Given the description of an element on the screen output the (x, y) to click on. 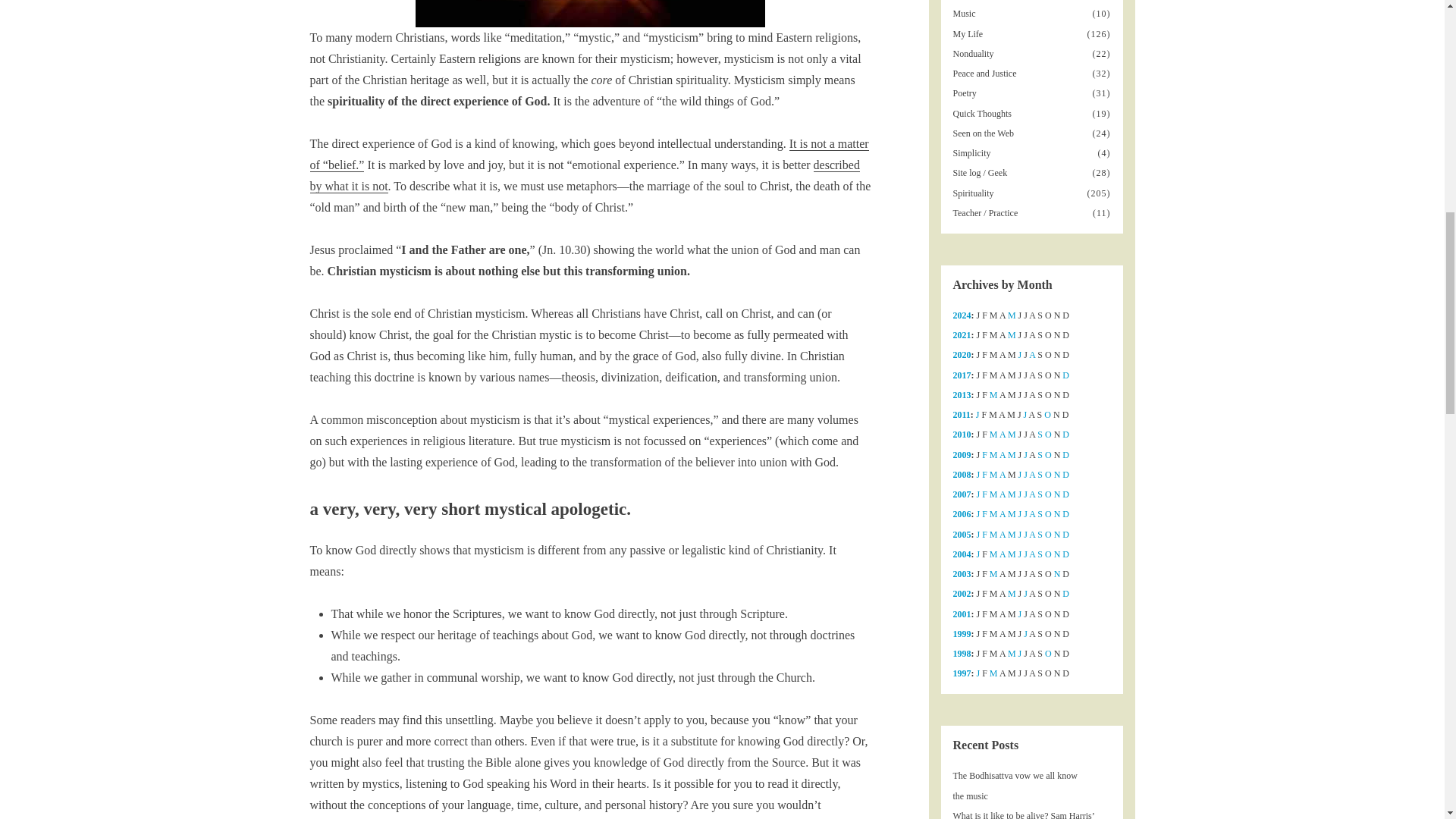
Music (965, 13)
Nonduality (974, 53)
Quick Thoughts (983, 113)
Poetry (965, 92)
described by what it is not (583, 175)
My Life (969, 33)
Peace and Justice (986, 72)
Seen on the Web (984, 132)
